Given the description of an element on the screen output the (x, y) to click on. 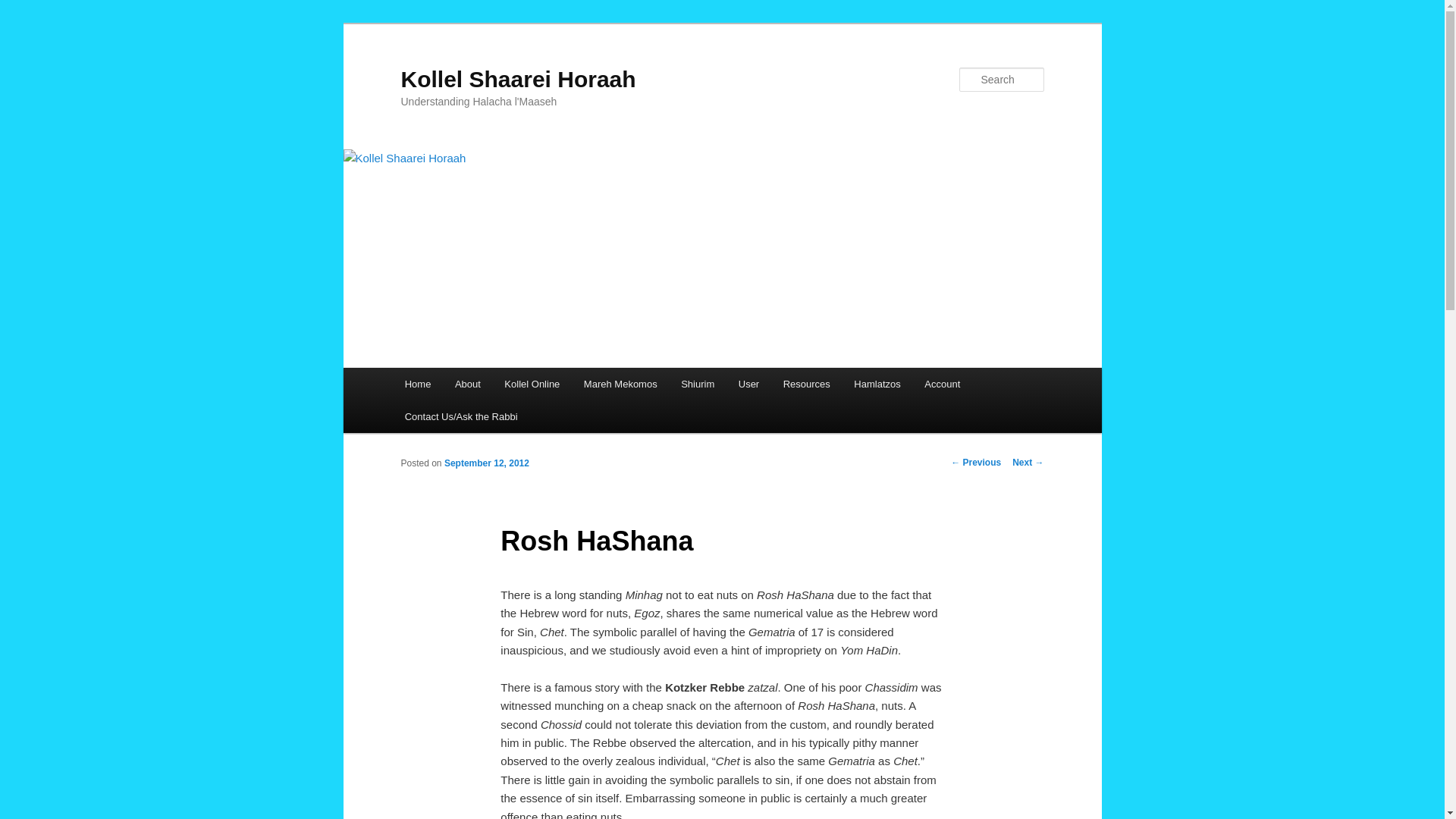
23:05 (486, 462)
About (467, 383)
Kollel Shaarei Horaah (517, 78)
User (748, 383)
September 12, 2012 (486, 462)
Resources (807, 383)
Search (24, 8)
Mareh Mekomos (620, 383)
Hamlatzos (877, 383)
Account (942, 383)
Shiurim (697, 383)
Home (417, 383)
Kollel Online (532, 383)
